Given the description of an element on the screen output the (x, y) to click on. 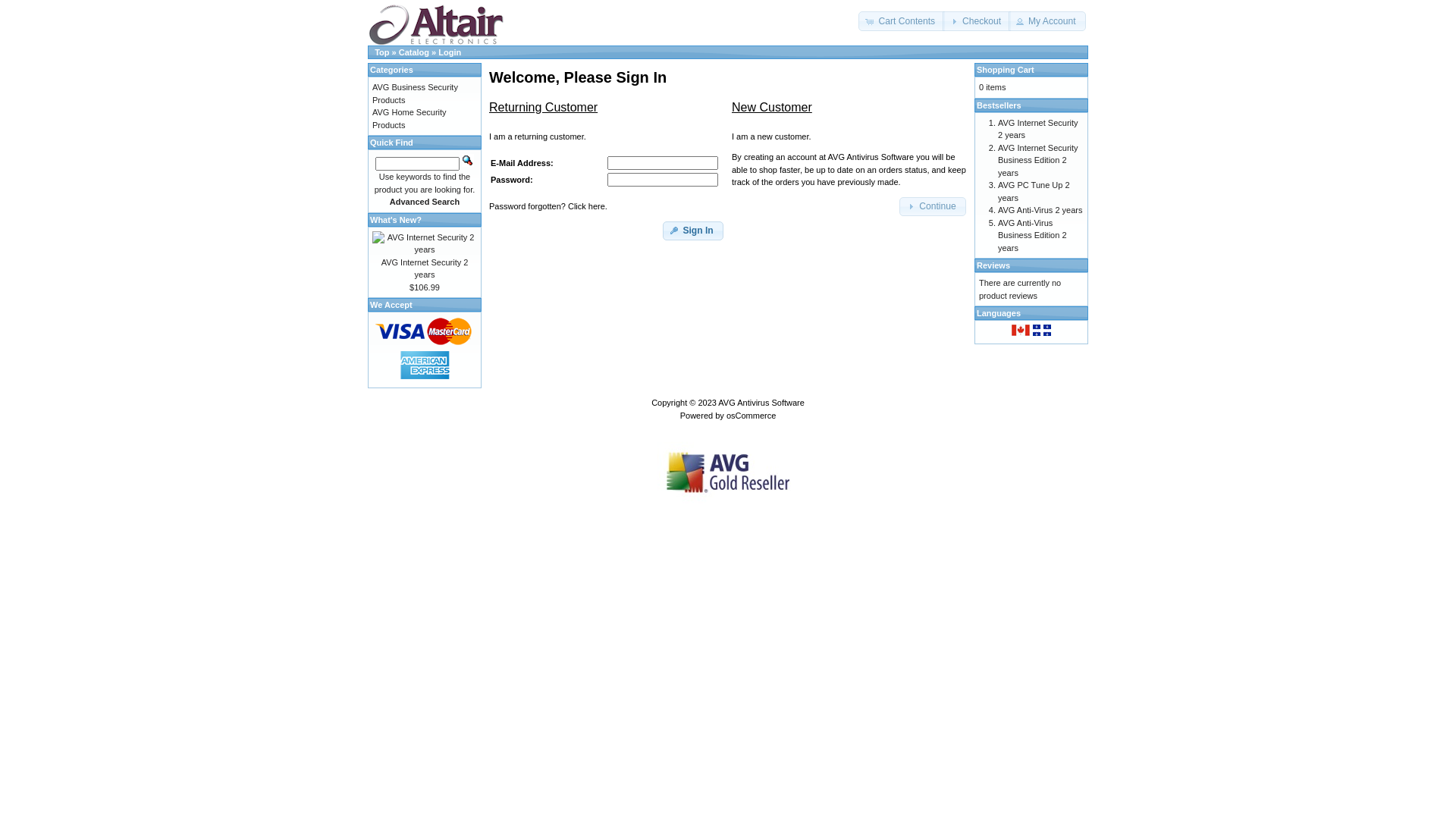
AVG Antivirus Software Element type: hover (435, 24)
AVG Reseller Element type: hover (727, 471)
AVG Anti-Virus Business Edition 2 years Element type: text (1031, 235)
Advanced Search Element type: text (424, 201)
osCommerce Element type: text (750, 415)
Catalog Element type: text (413, 51)
AVG Internet Security 2 years Element type: hover (424, 242)
Shopping Cart Element type: text (1005, 69)
AVG Internet Security 2 years Element type: text (1037, 129)
AVG Business Security Products Element type: text (415, 93)
English Element type: hover (1020, 329)
AVG Internet Security Business Edition 2 years Element type: text (1037, 159)
Reviews Element type: text (993, 264)
AVG PC Tune Up 2 years Element type: text (1033, 191)
Top Element type: text (381, 51)
Checkout Element type: text (976, 21)
Cart Contents Element type: text (901, 21)
AVG Antivirus Software Element type: text (761, 402)
 Quick Find  Element type: hover (467, 159)
AVG Home Security Products Element type: text (409, 118)
What's New? Element type: text (395, 219)
My Account Element type: text (1046, 21)
Sign In Element type: text (692, 231)
French Element type: hover (1041, 329)
Continue Element type: text (932, 206)
AVG Internet Security 2 years Element type: text (424, 268)
AVG Anti-Virus 2 years Element type: text (1039, 209)
Login Element type: text (449, 51)
Password forgotten? Click here. Element type: text (548, 205)
